Given the description of an element on the screen output the (x, y) to click on. 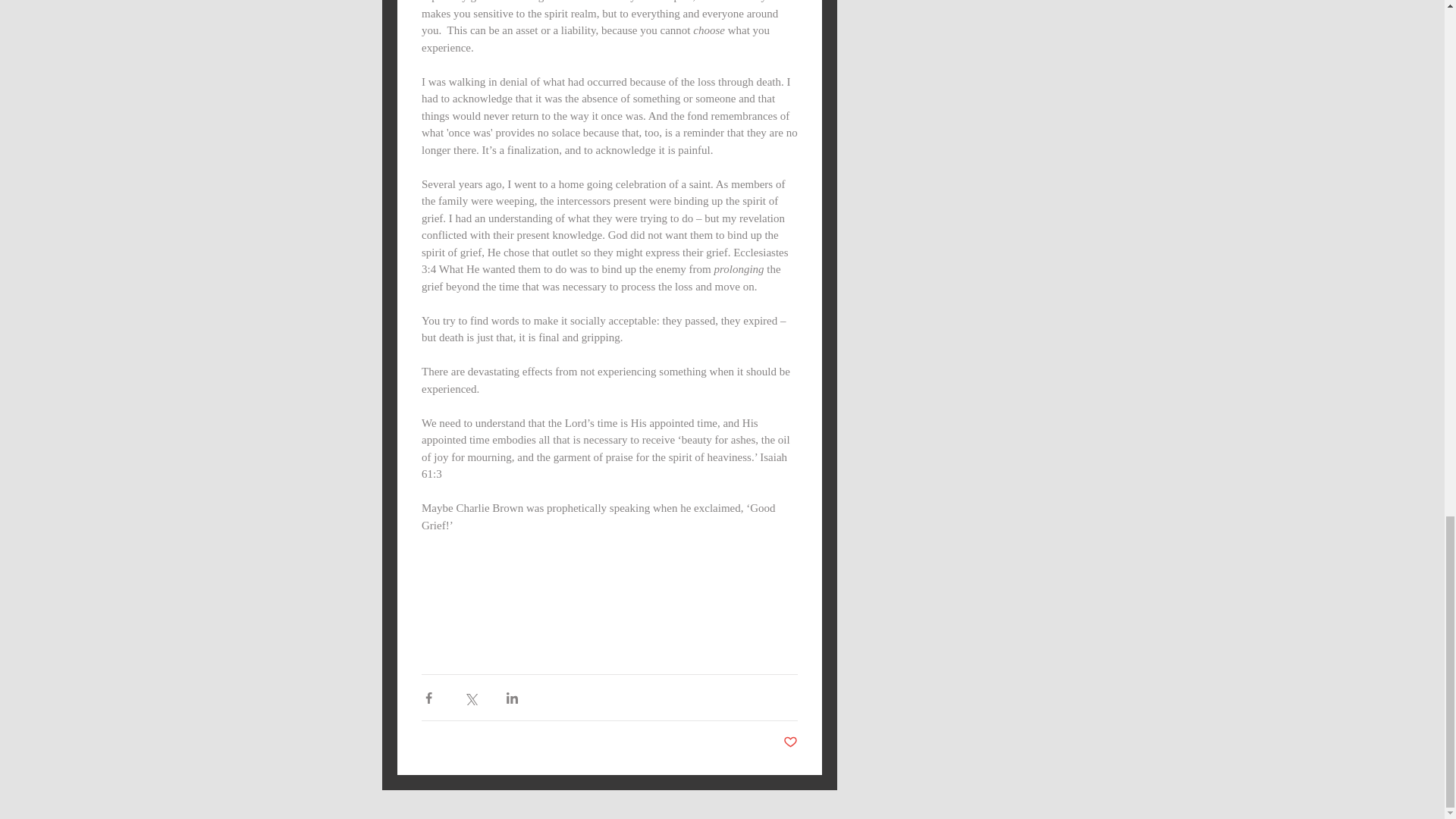
Post not marked as liked (789, 742)
